Given the description of an element on the screen output the (x, y) to click on. 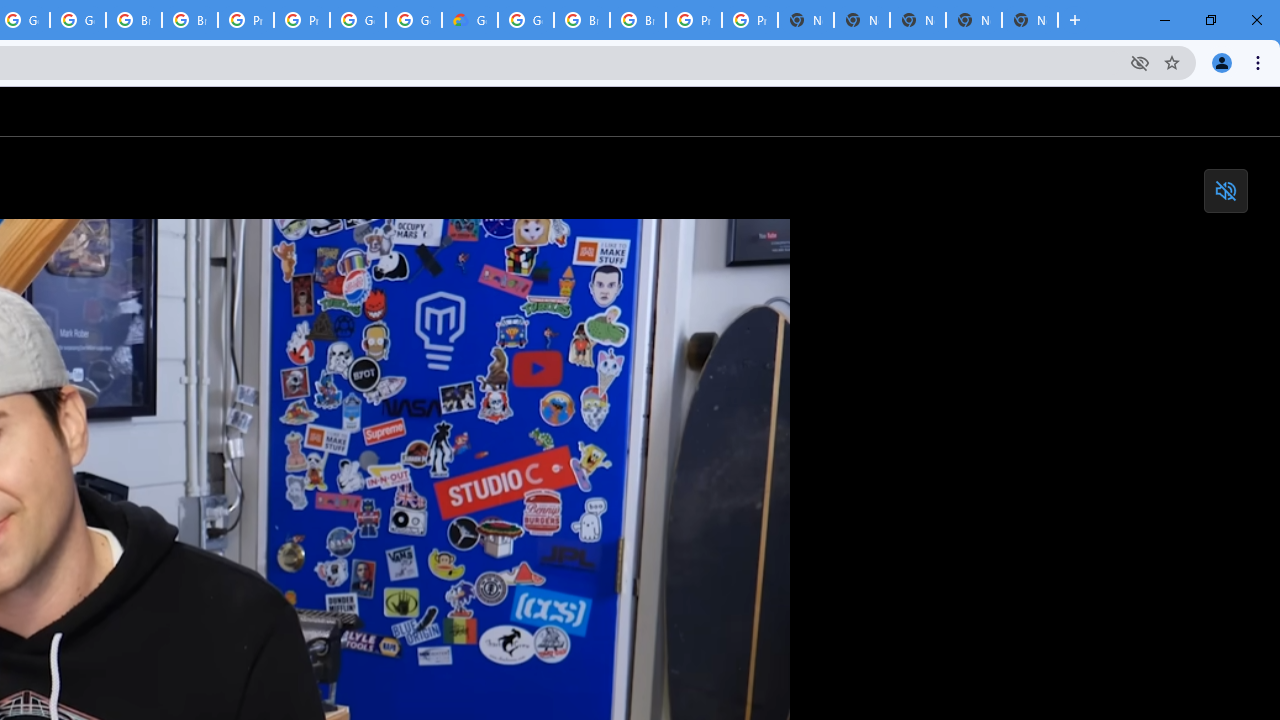
Toggle mute (1226, 191)
Google Cloud Platform (525, 20)
Google Cloud Platform (413, 20)
Google Cloud Platform (358, 20)
Browse Chrome as a guest - Computer - Google Chrome Help (134, 20)
